Given the description of an element on the screen output the (x, y) to click on. 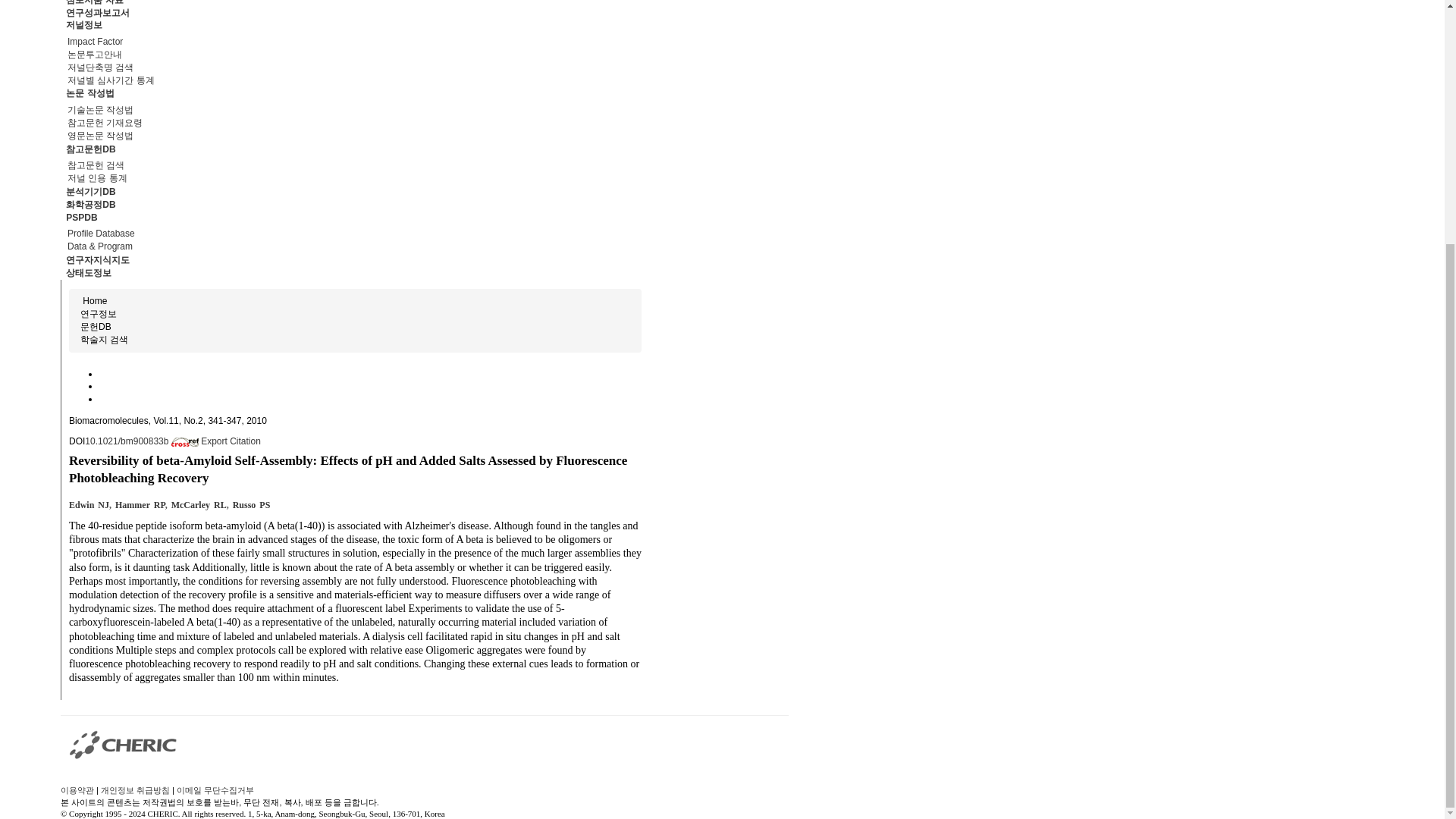
Full Text via CrossRef (142, 440)
